Given the description of an element on the screen output the (x, y) to click on. 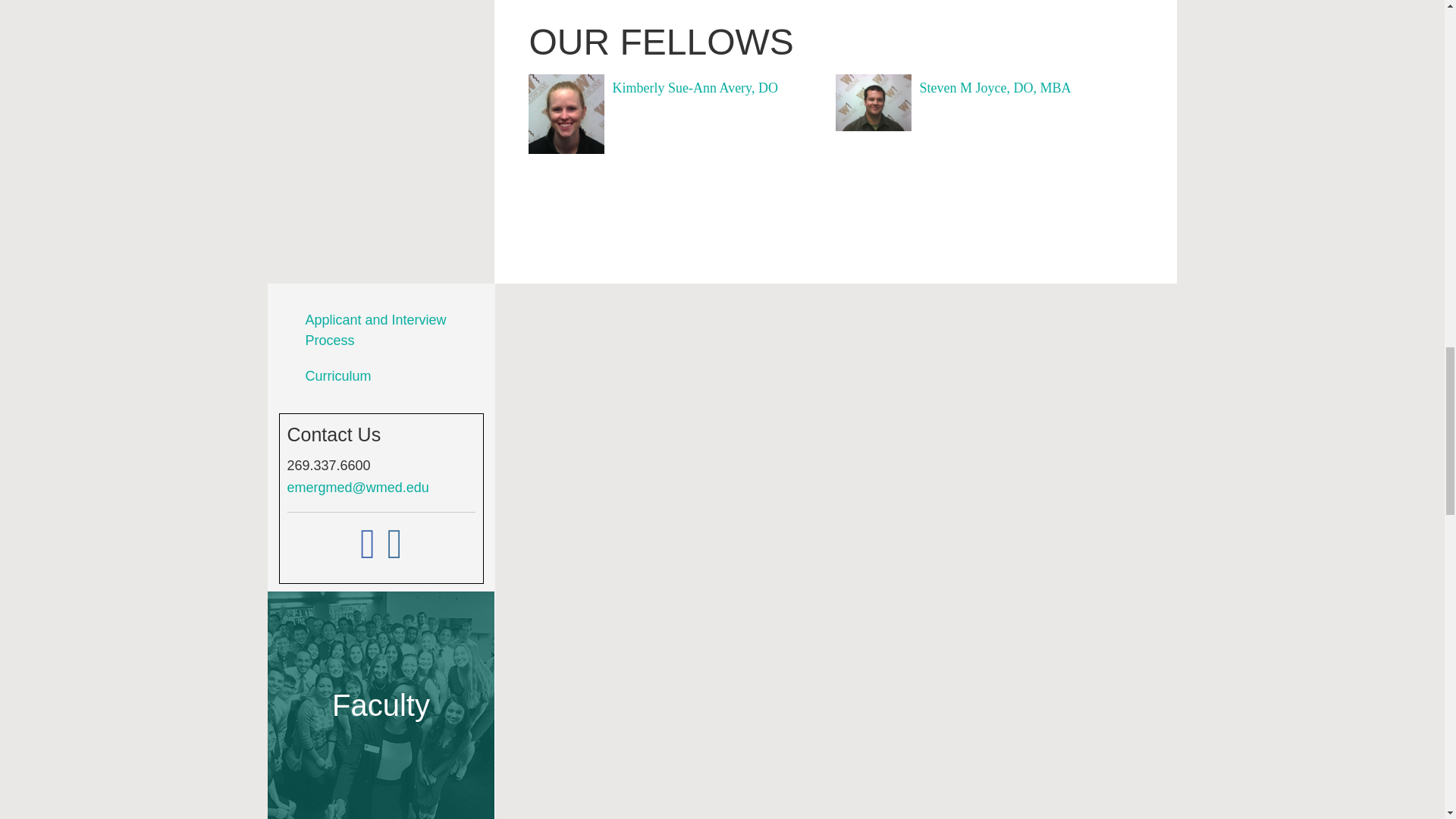
Faculty (380, 705)
Curriculum (337, 376)
Applicant and Interview Process (374, 330)
